Given the description of an element on the screen output the (x, y) to click on. 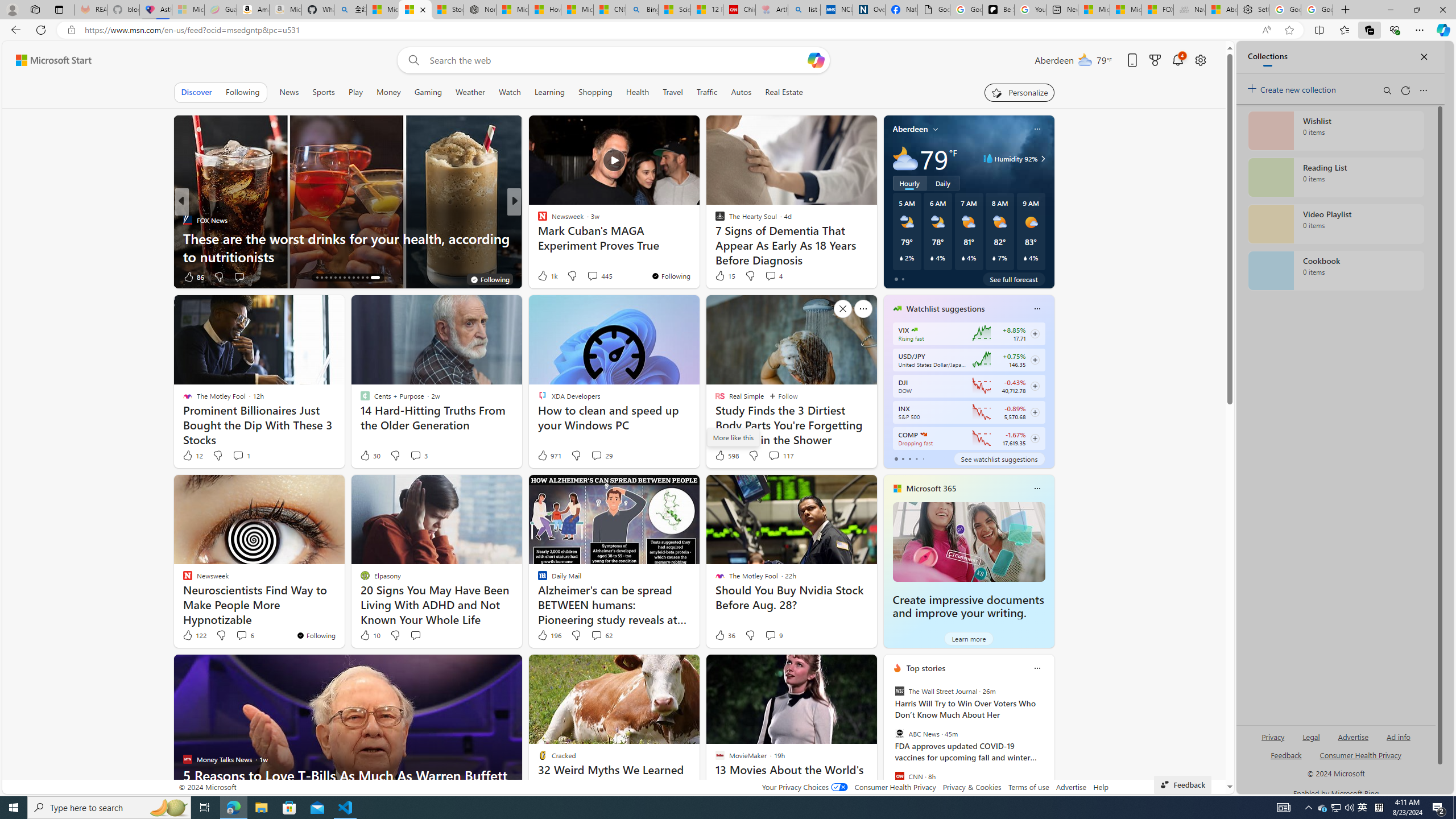
tab-0 (895, 458)
AutomationID: tab-25 (366, 277)
View comments 445 Comment (599, 275)
